Given the description of an element on the screen output the (x, y) to click on. 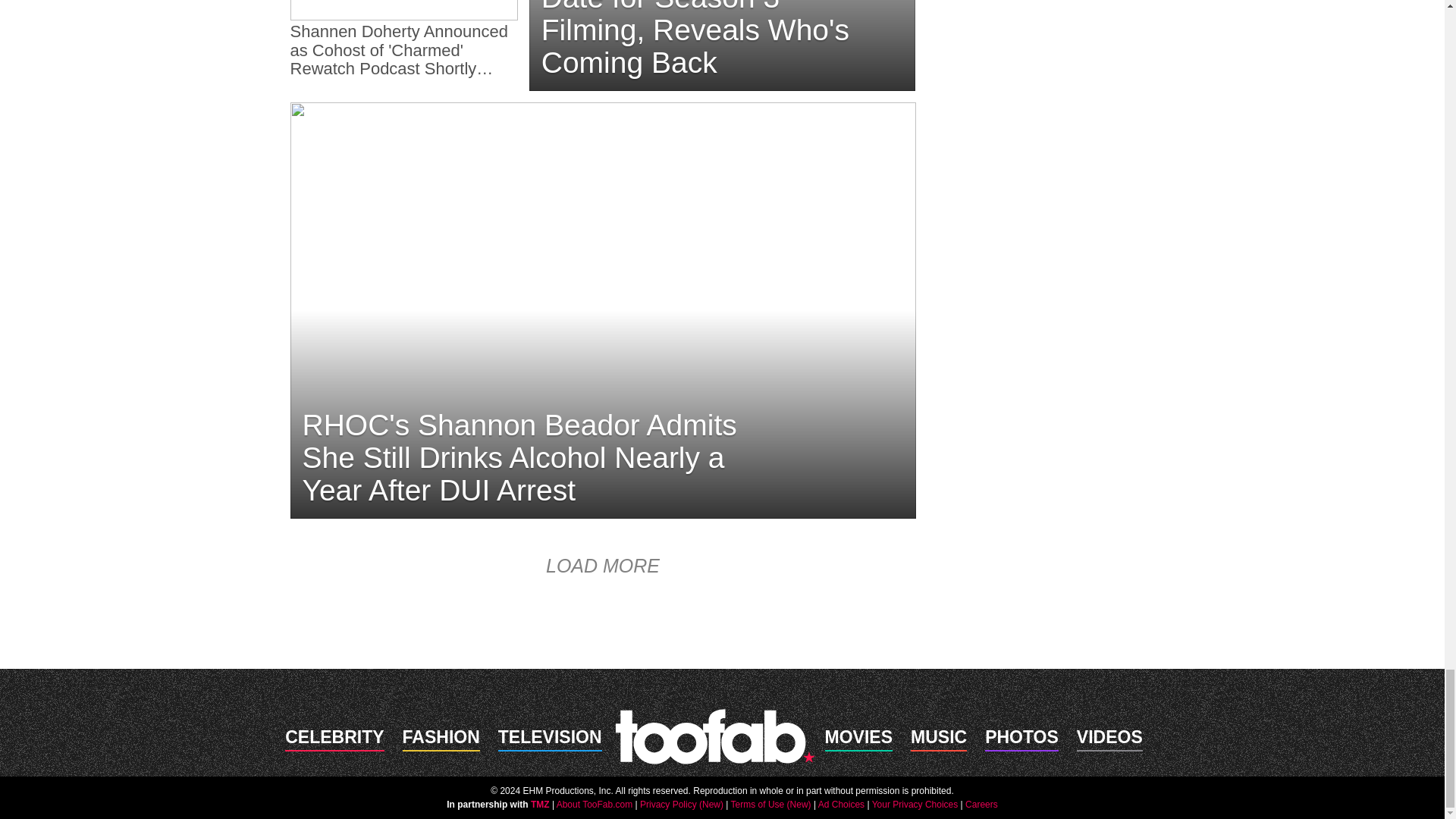
toofab (714, 736)
